Given the description of an element on the screen output the (x, y) to click on. 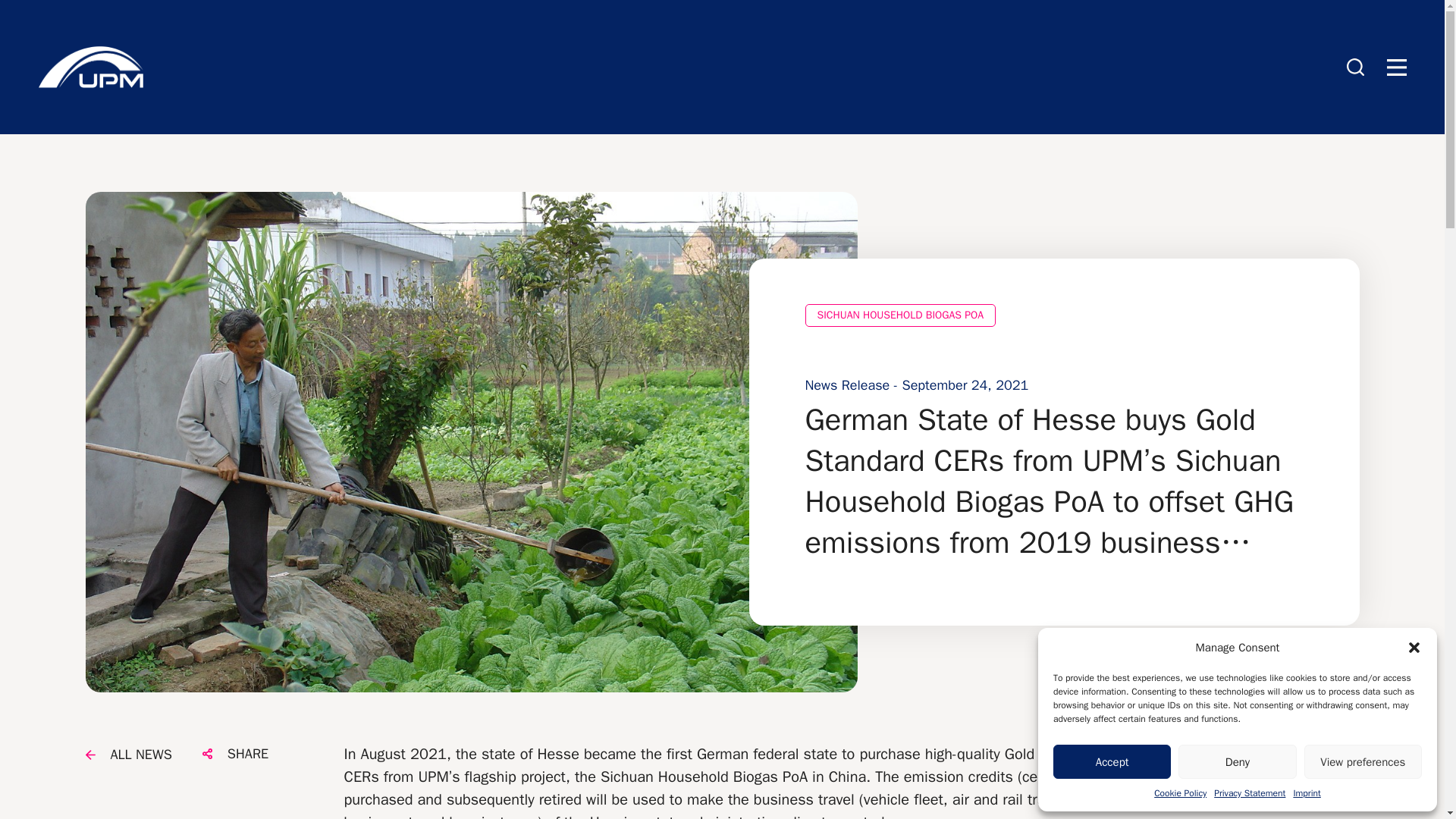
Cookie Policy (1180, 793)
Imprint (1306, 793)
Accept (1111, 761)
View preferences (1363, 761)
Privacy Statement (1249, 793)
Deny (1236, 761)
